Given the description of an element on the screen output the (x, y) to click on. 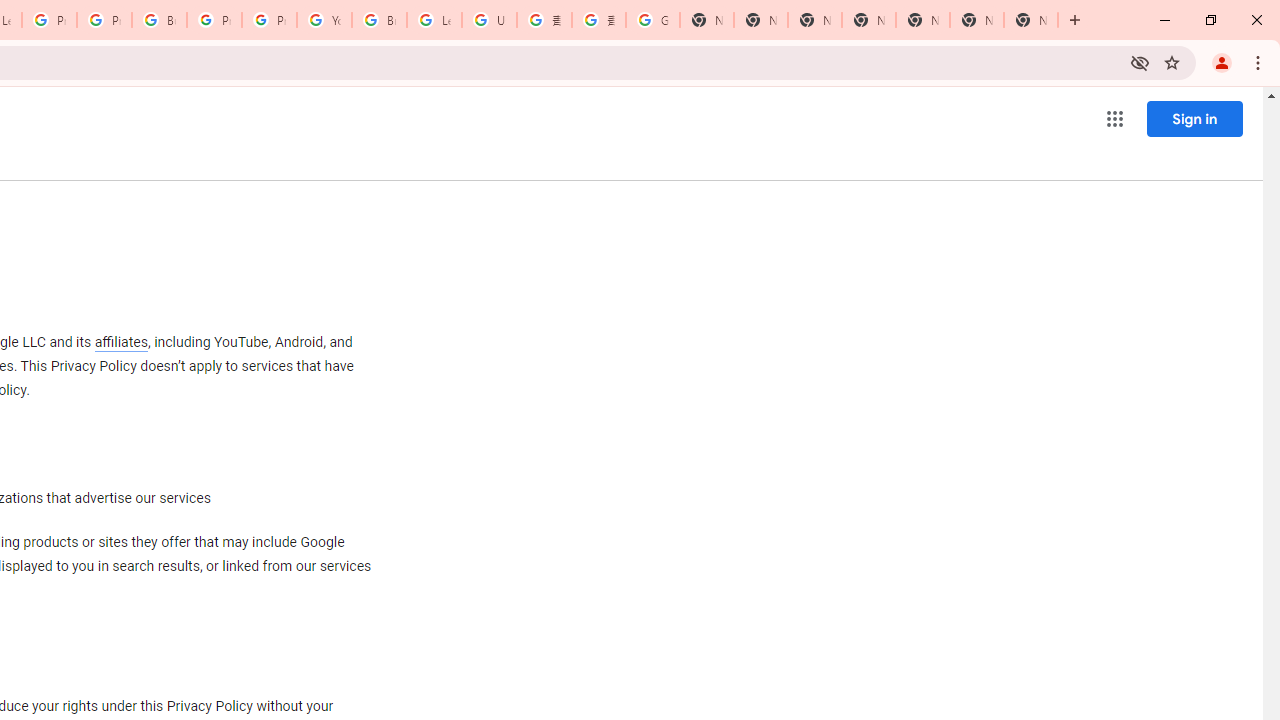
Google Images (652, 20)
Privacy Help Center - Policies Help (103, 20)
YouTube (324, 20)
affiliates (120, 342)
